Given the description of an element on the screen output the (x, y) to click on. 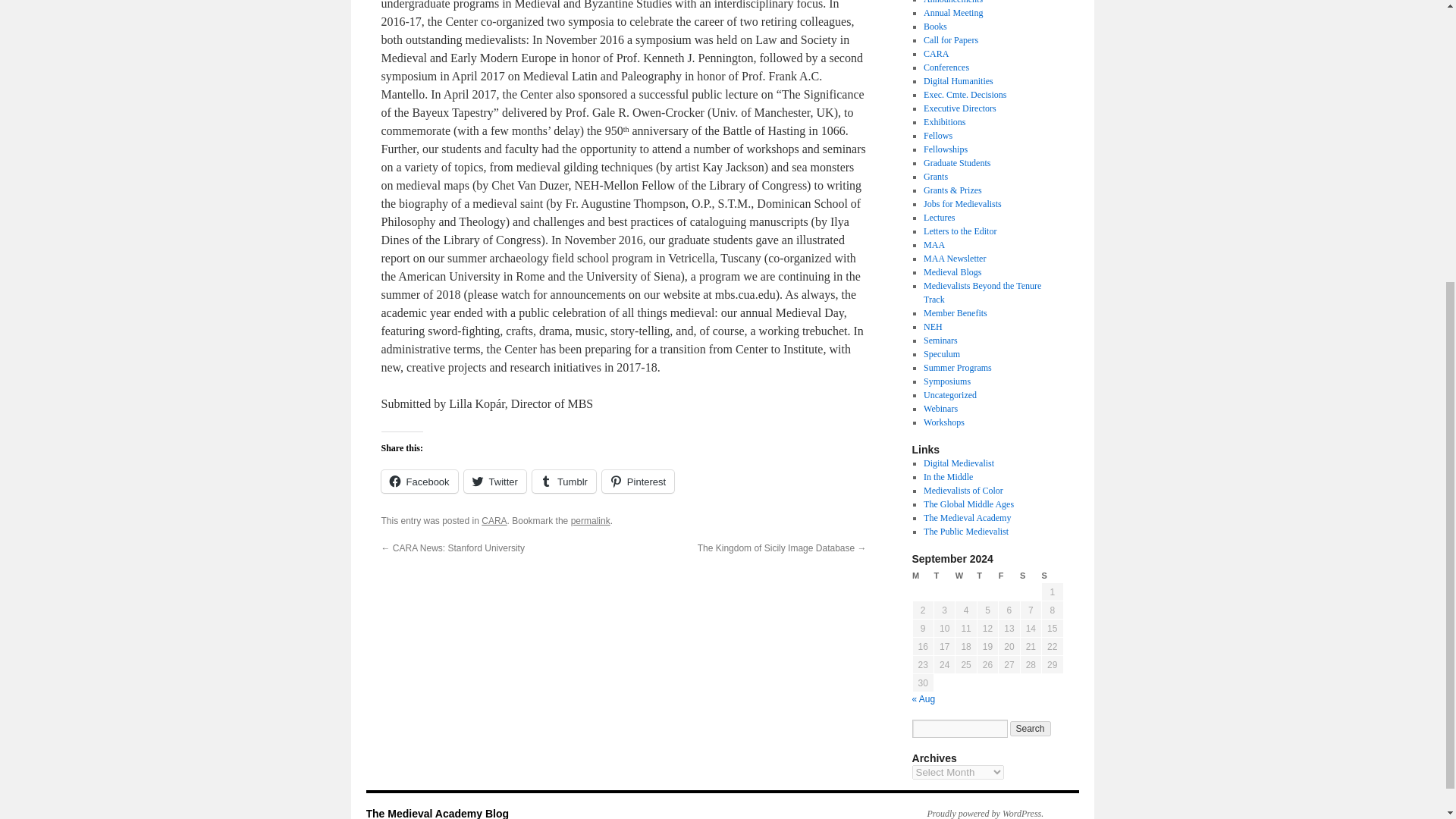
Annual Meeting (952, 12)
Wednesday (965, 575)
Tumblr (563, 481)
Call for Papers (950, 40)
Announcements (952, 2)
Permalink to CARA News: The Catholic University of America (590, 520)
Tuesday (944, 575)
Twitter (494, 481)
permalink (590, 520)
Click to share on Tumblr (563, 481)
